Given the description of an element on the screen output the (x, y) to click on. 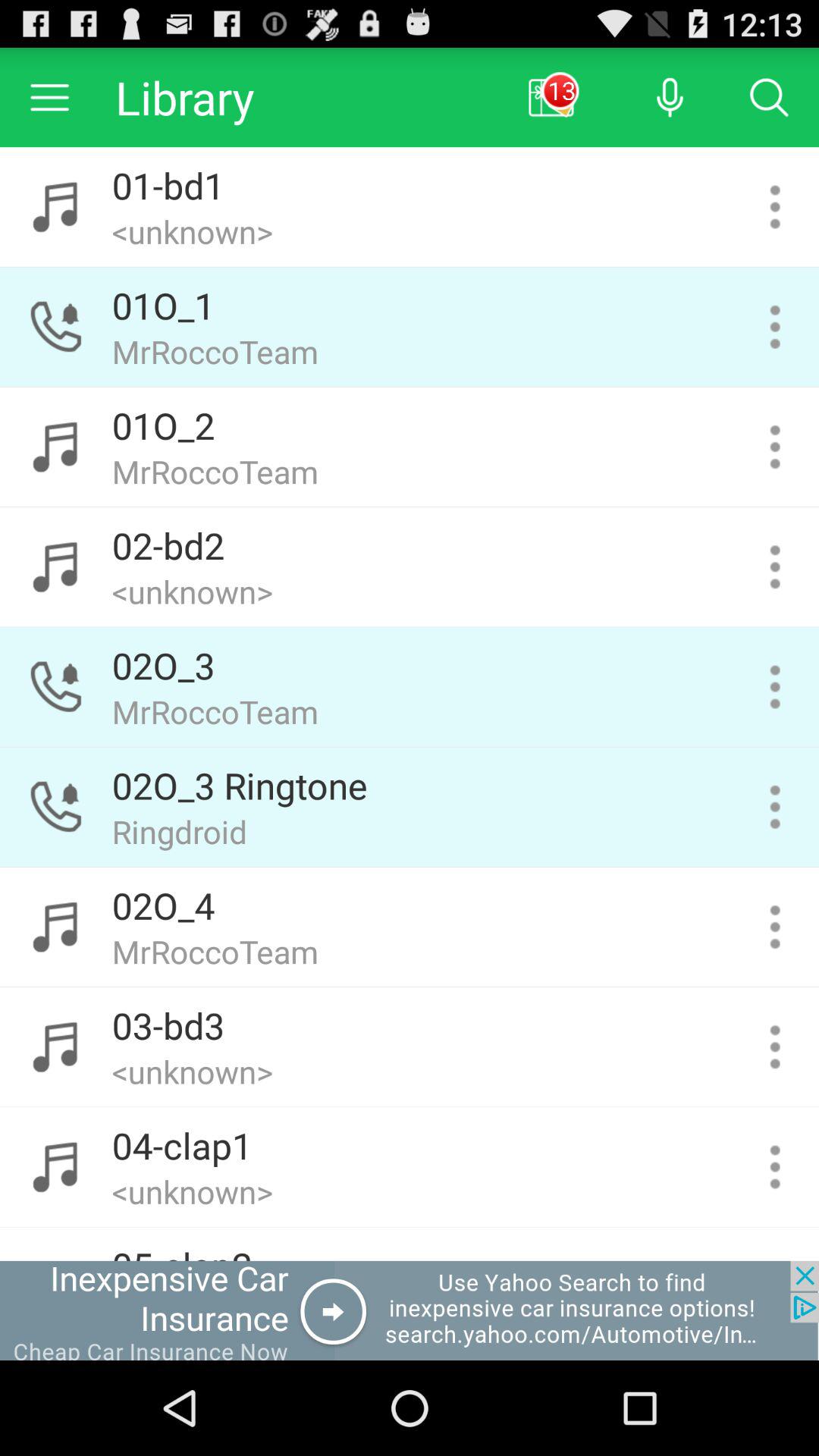
page actions (775, 686)
